Given the description of an element on the screen output the (x, y) to click on. 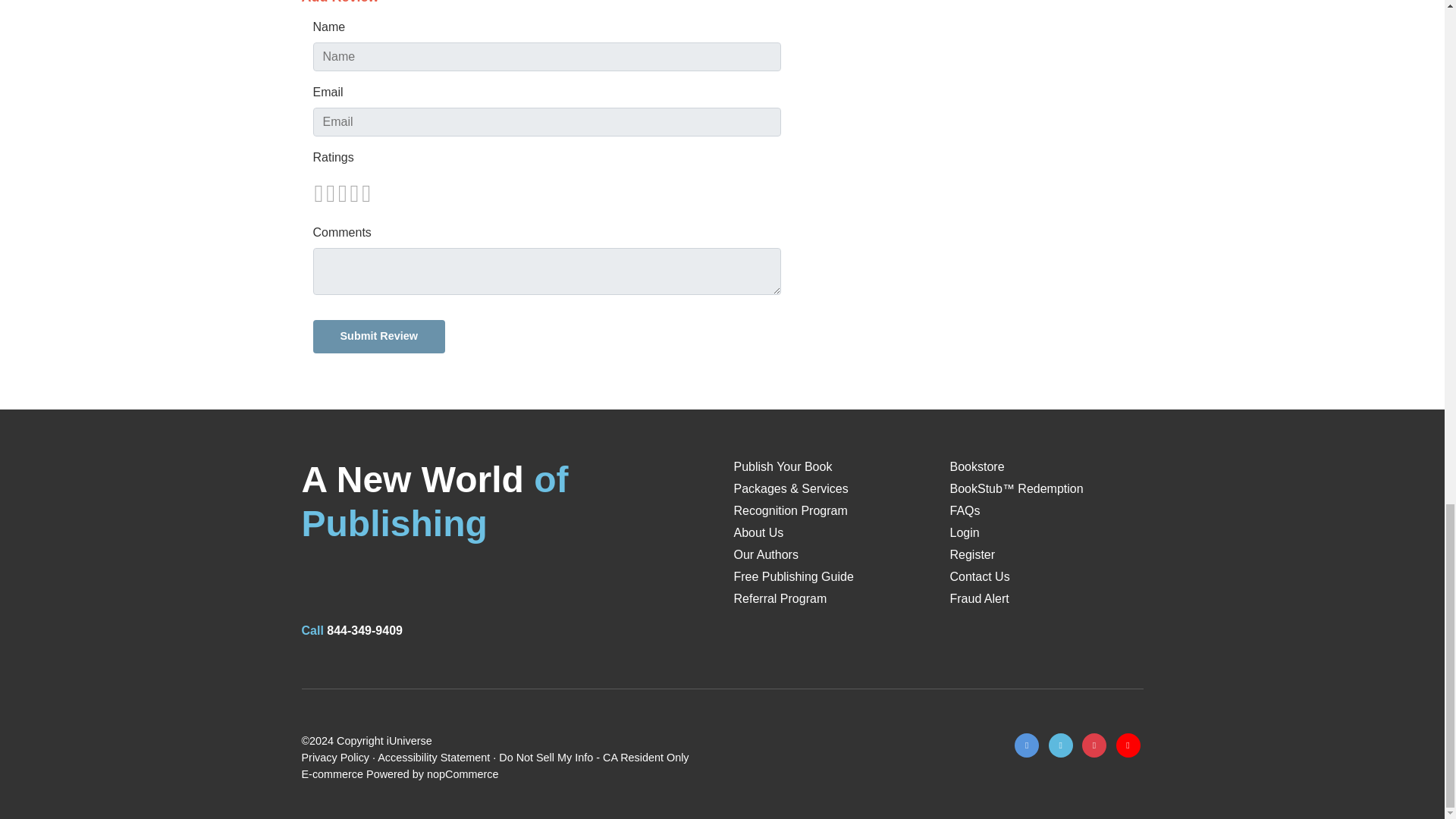
Not Rated (342, 193)
Our Authors (765, 554)
Publish Your Book (782, 466)
844-349-9409 (364, 630)
Bookstore (976, 466)
Referral Program (780, 598)
Free Publishing Guide (793, 576)
FAQs (964, 510)
Submit Review (378, 336)
About Us (758, 532)
Submit Review (378, 336)
Recognition Program (790, 510)
